Given the description of an element on the screen output the (x, y) to click on. 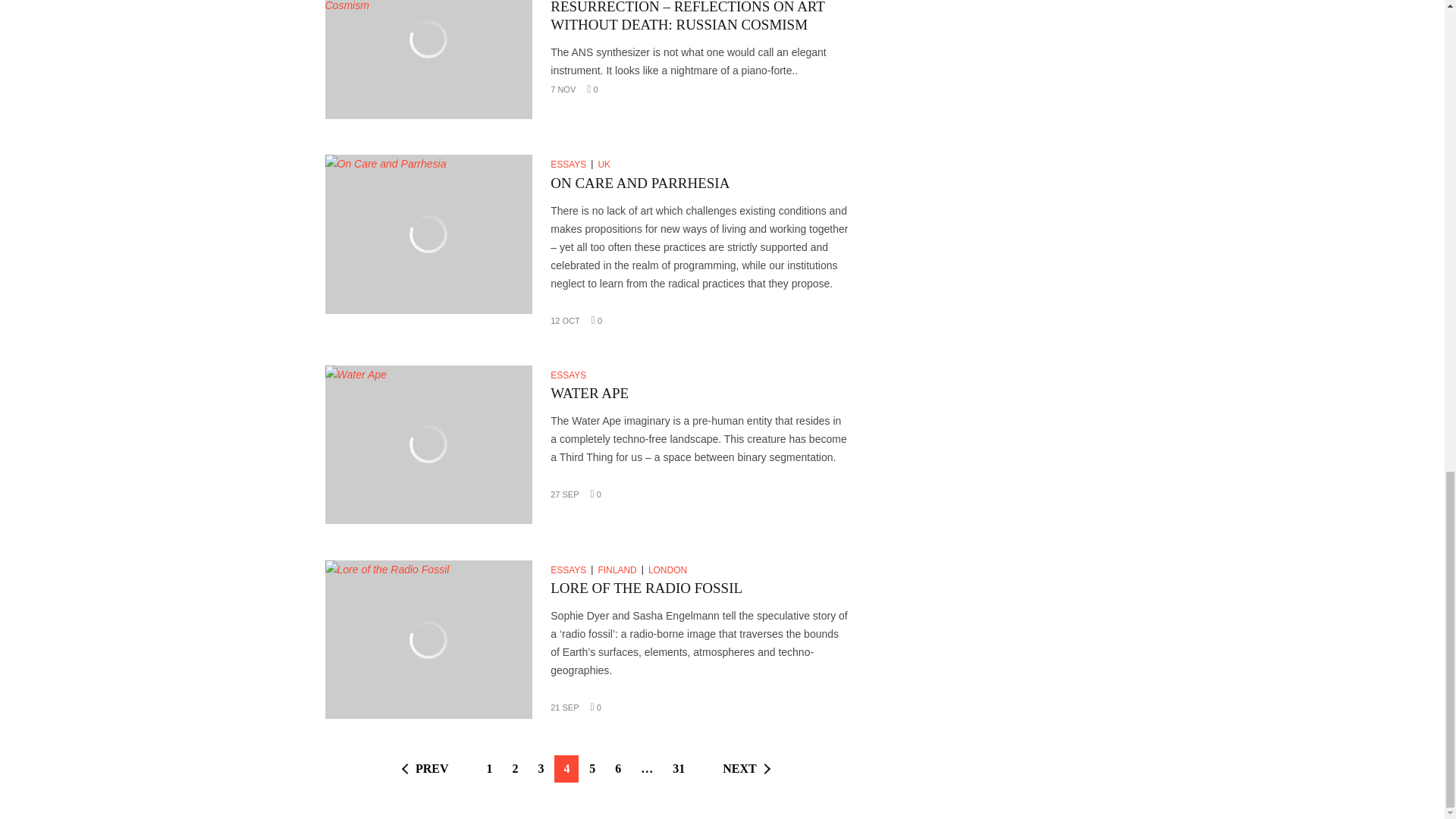
View all posts in Essays (571, 570)
View all posts in London (669, 570)
View all posts in Essays (570, 375)
View all posts in UK (605, 163)
View all posts in Essays (571, 163)
View all posts in Finland (619, 570)
